Given the description of an element on the screen output the (x, y) to click on. 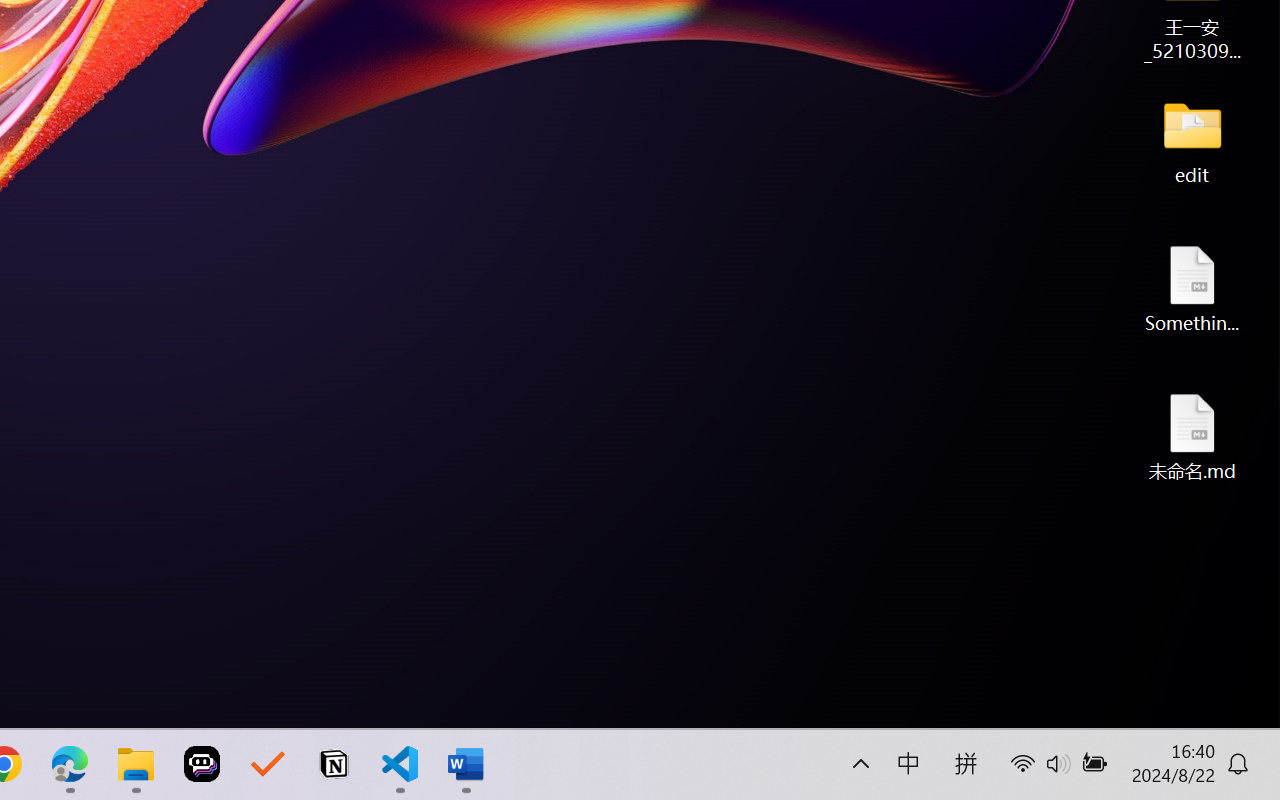
Poe (201, 764)
edit (1192, 140)
Something.md (1192, 288)
